Given the description of an element on the screen output the (x, y) to click on. 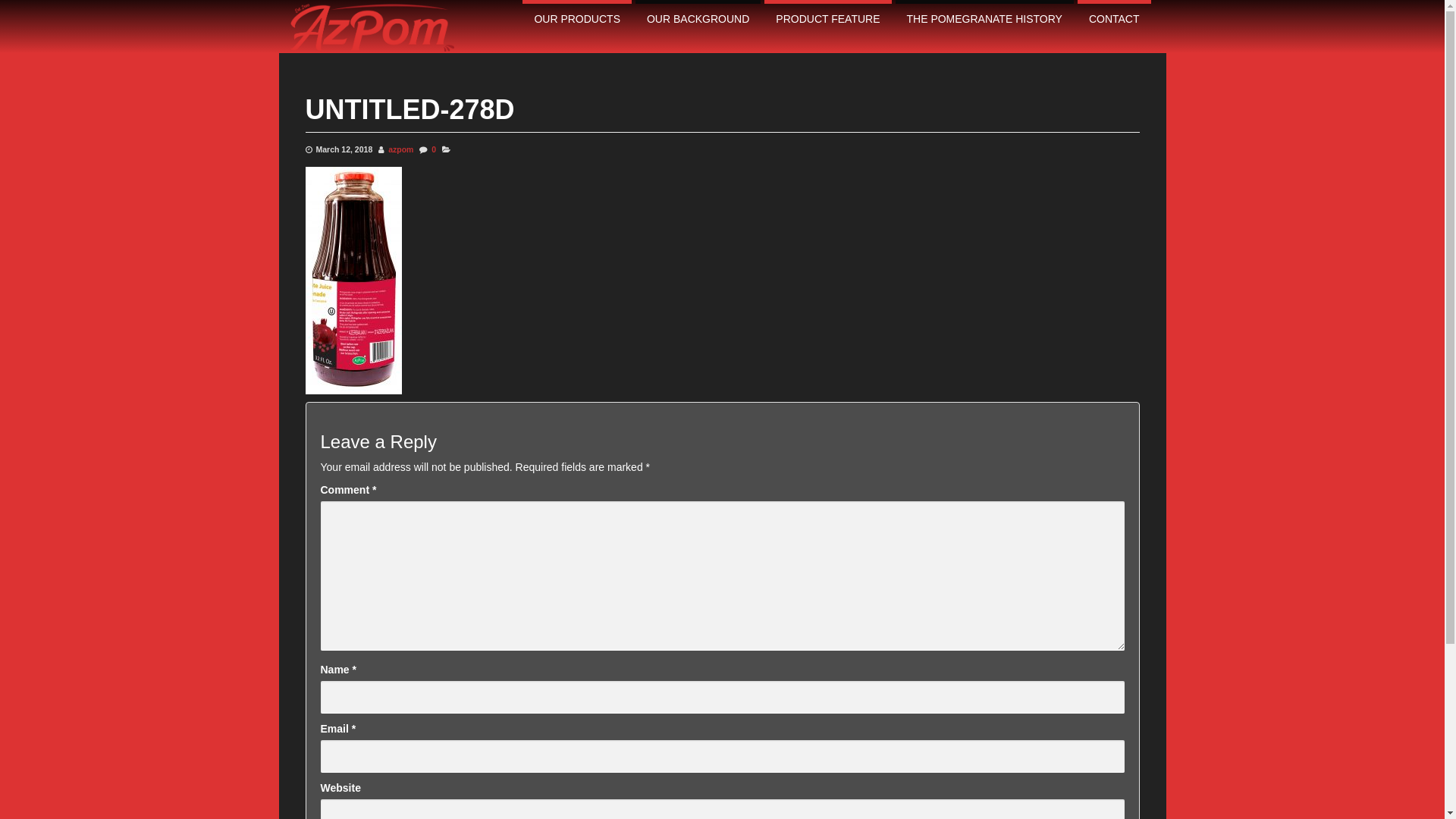
OUR BACKGROUND Element type: text (697, 18)
PRODUCT FEATURE Element type: text (827, 18)
0 Element type: text (433, 148)
OUR PRODUCTS Element type: text (576, 18)
THE POMEGRANATE HISTORY Element type: text (983, 18)
CONTACT Element type: text (1114, 18)
azpom Element type: text (400, 148)
